Given the description of an element on the screen output the (x, y) to click on. 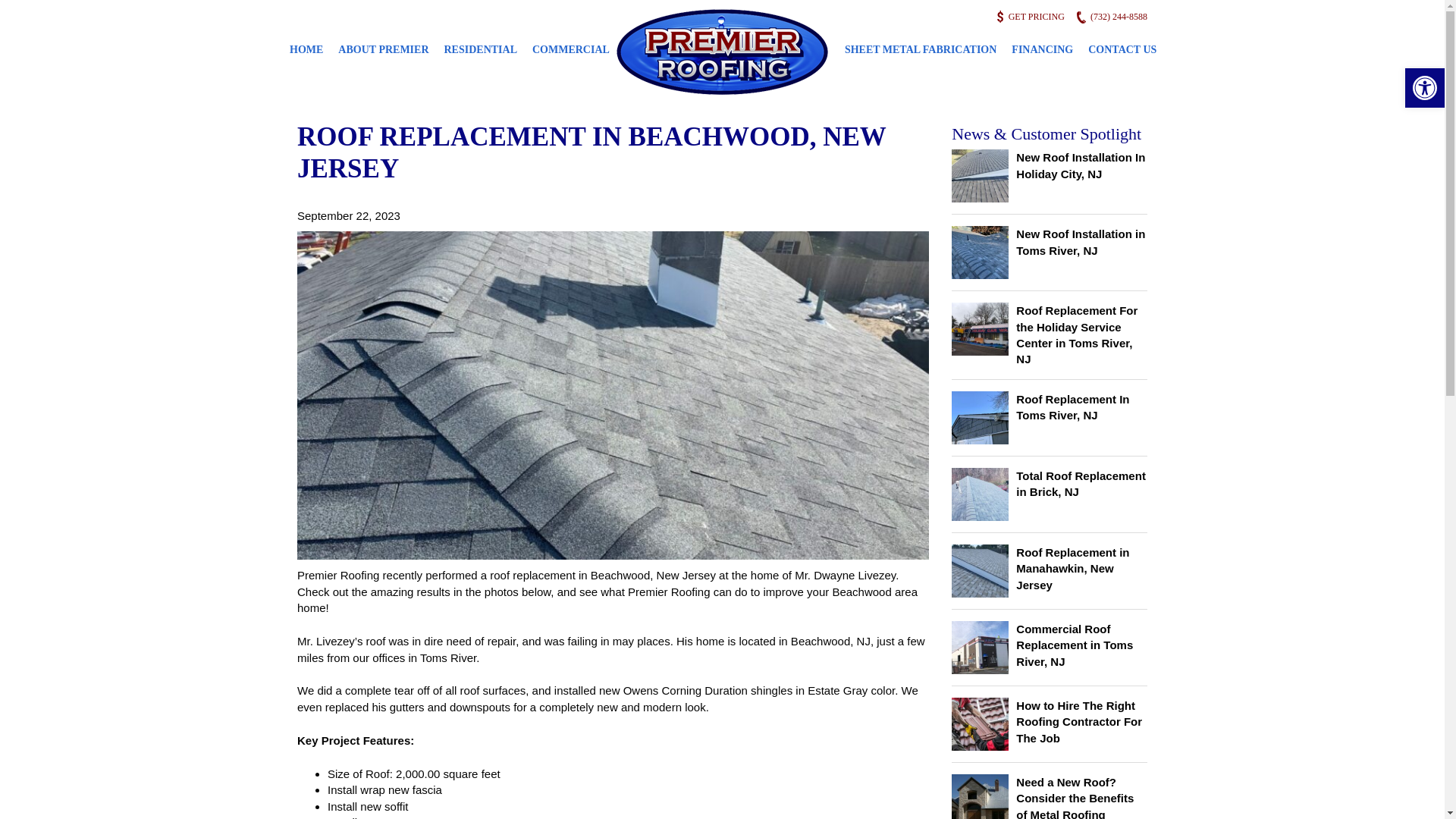
Accessibility Tools (1424, 87)
ABOUT PREMIER (382, 40)
GET PRICING (1041, 16)
RESIDENTIAL (480, 40)
FINANCING (1042, 40)
HOME (306, 40)
SHEET METAL FABRICATION (920, 40)
COMMERCIAL (570, 40)
CONTACT US (1121, 40)
